Given the description of an element on the screen output the (x, y) to click on. 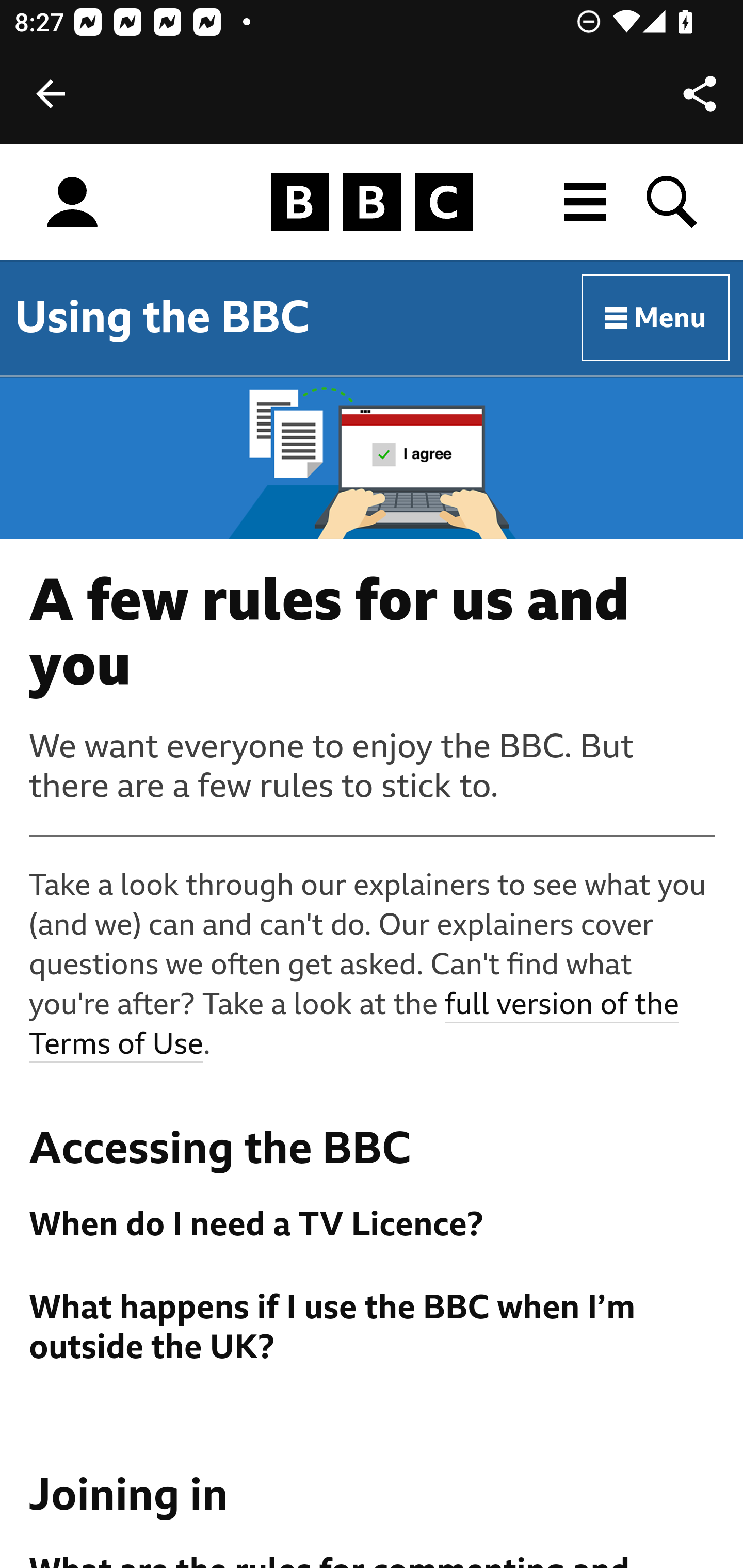
Back (50, 93)
Share (699, 93)
All BBC destinations menu (585, 202)
Search BBC (672, 202)
Sign in (71, 203)
Homepage (371, 203)
Menu (656, 318)
Using the BBC (162, 317)
full version of the Terms of Use (354, 1025)
When do I need a TV Licence? (372, 1224)
